Given the description of an element on the screen output the (x, y) to click on. 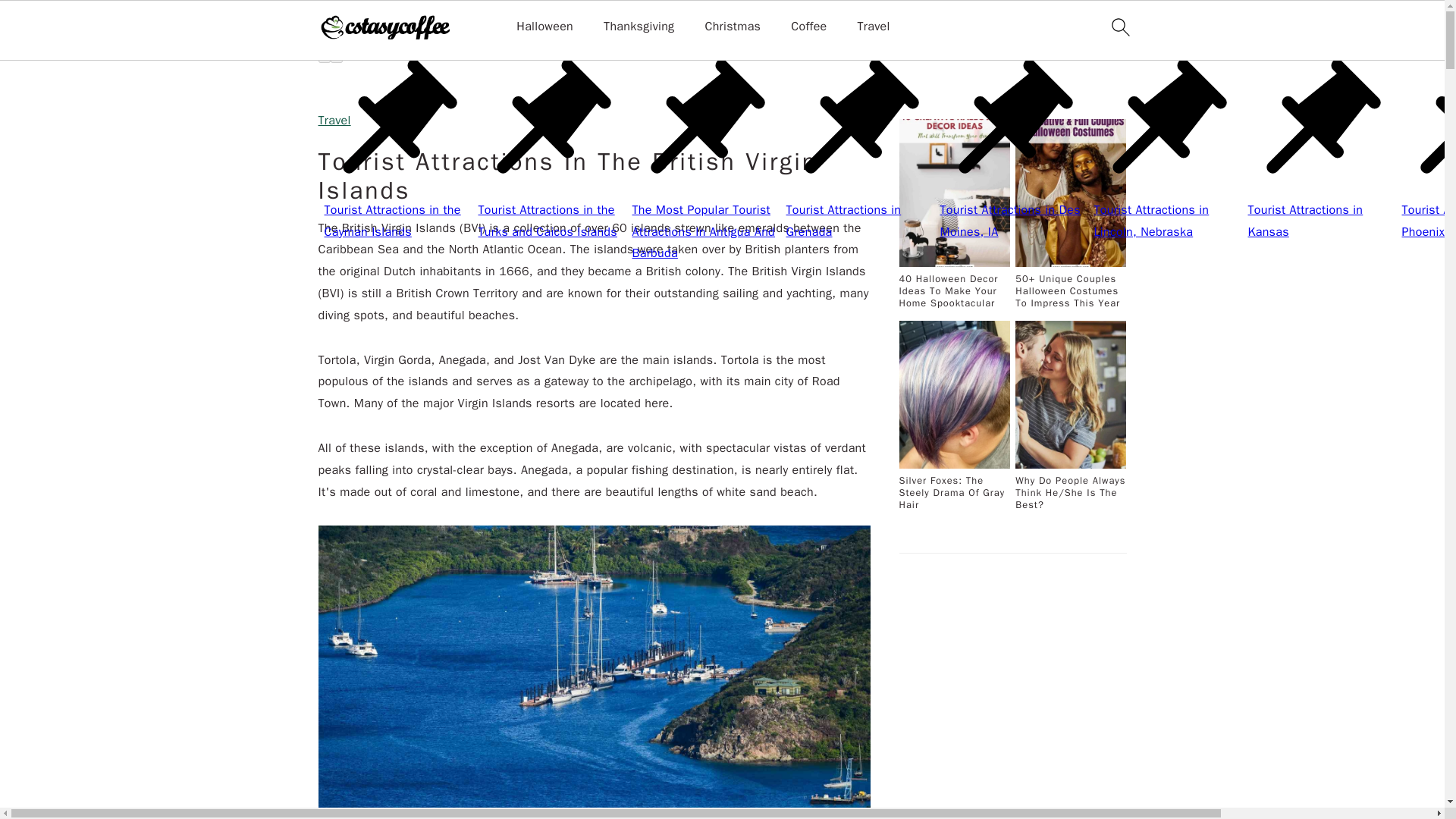
Thanksgiving (639, 26)
40 Halloween Decor Ideas to Make Your Home Spooktacular (954, 263)
Christmas (732, 26)
Silver Foxes: The Steely Drama of Gray Hair (954, 465)
Travel (873, 26)
search icon (1119, 26)
Halloween (544, 26)
Coffee (808, 26)
